Given the description of an element on the screen output the (x, y) to click on. 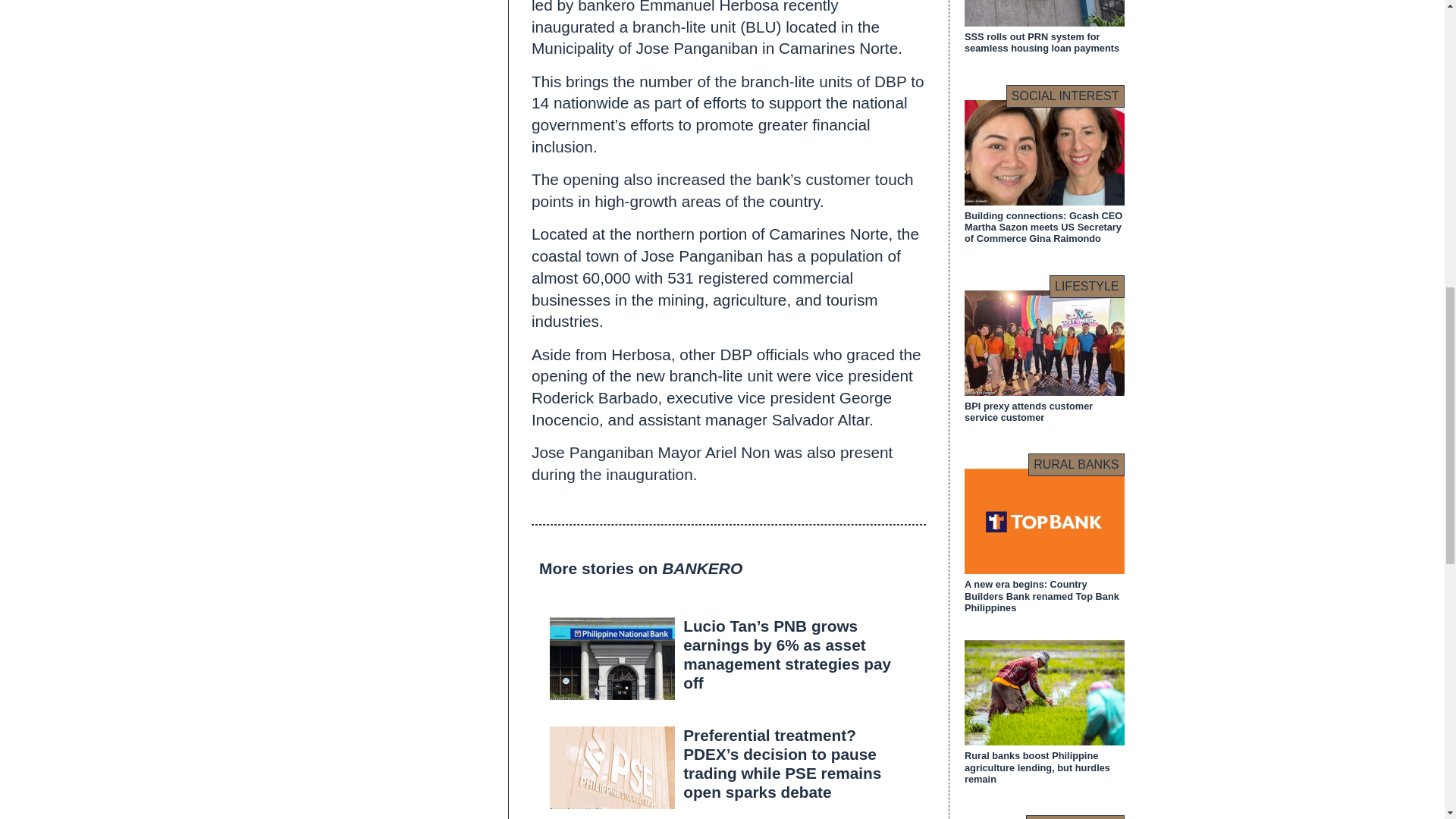
SSS rolls out PRN system for seamless housing loan payments (1041, 42)
